Given the description of an element on the screen output the (x, y) to click on. 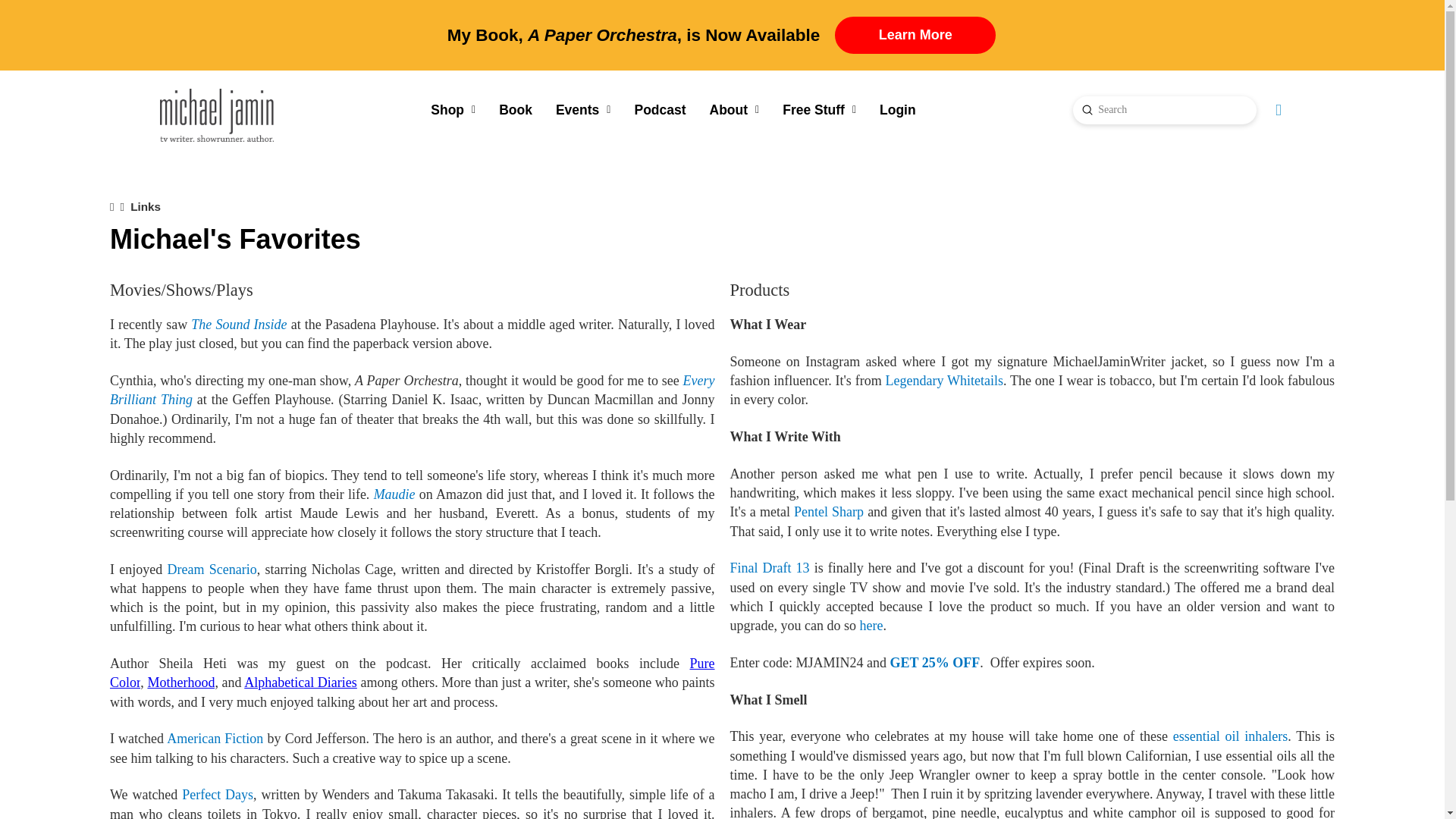
Legendary Whitetails (944, 380)
Alphabetical Diaries (300, 682)
The Sound Inside (238, 324)
Pure Color (412, 673)
Learn More (914, 35)
Perfect Days (217, 794)
American Fiction (215, 738)
Podcast (660, 109)
Maudie (394, 494)
About (734, 109)
